Given the description of an element on the screen output the (x, y) to click on. 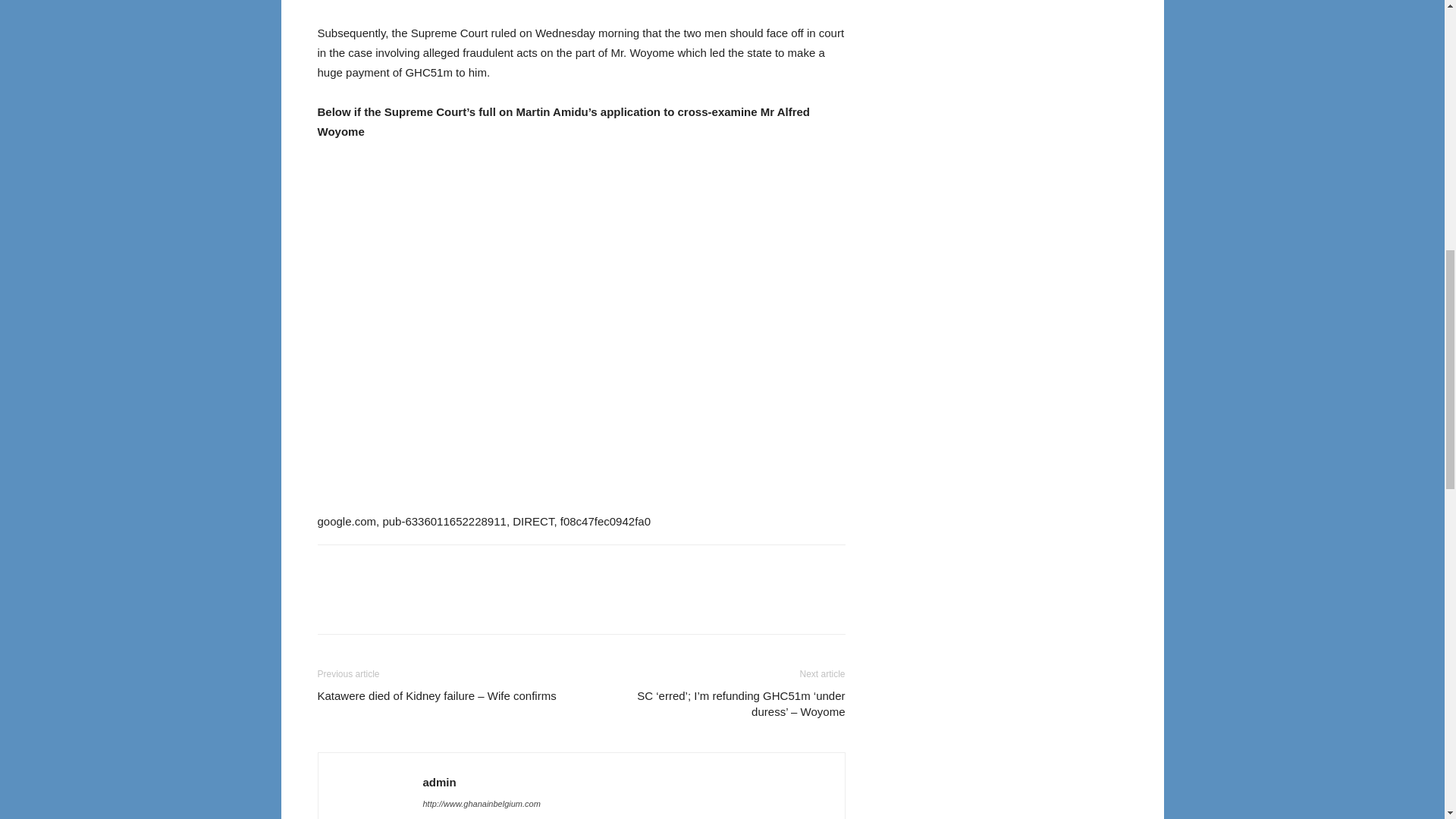
bottomFacebookLike (430, 569)
